Given the description of an element on the screen output the (x, y) to click on. 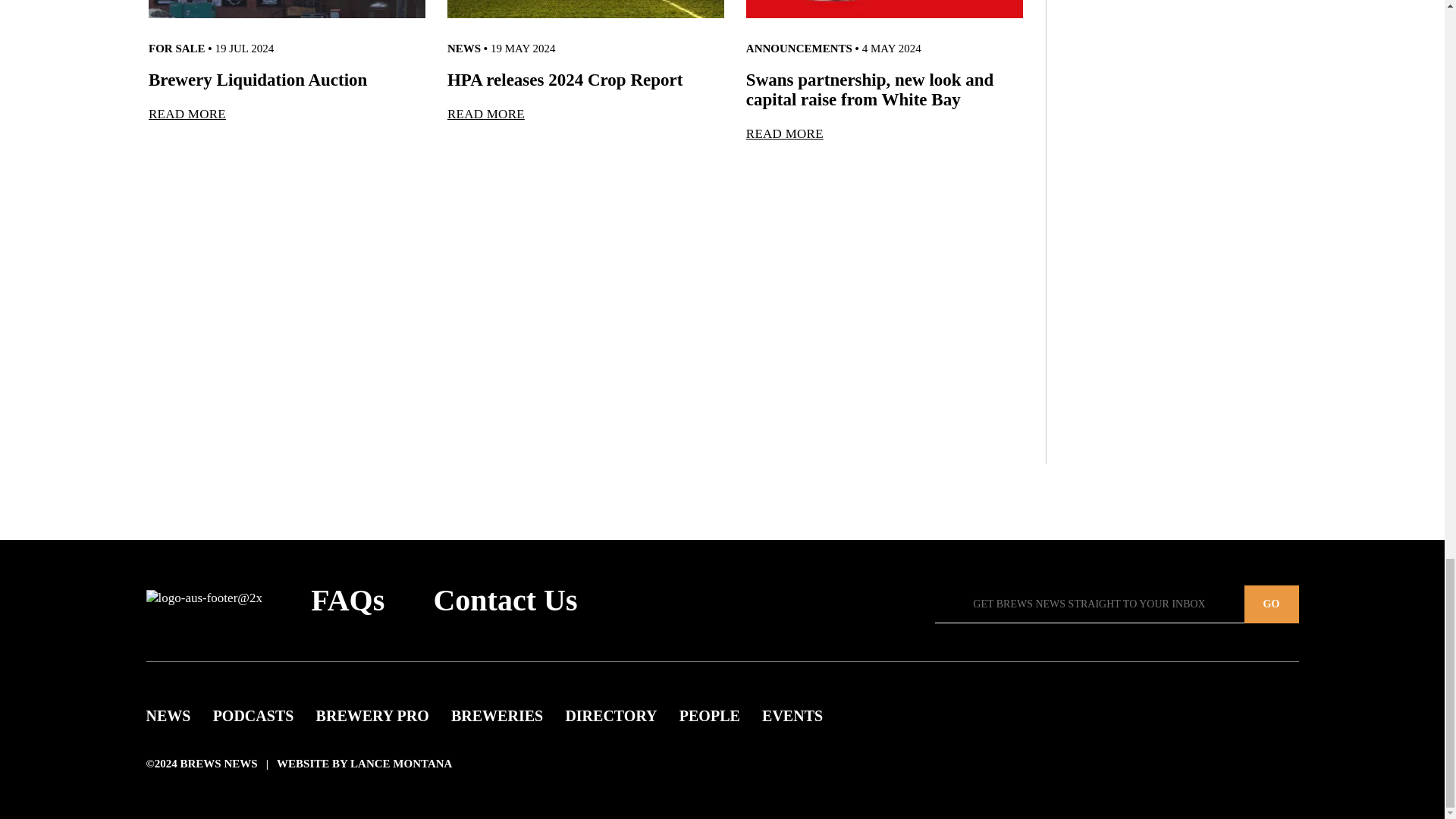
Go (1270, 604)
